Given the description of an element on the screen output the (x, y) to click on. 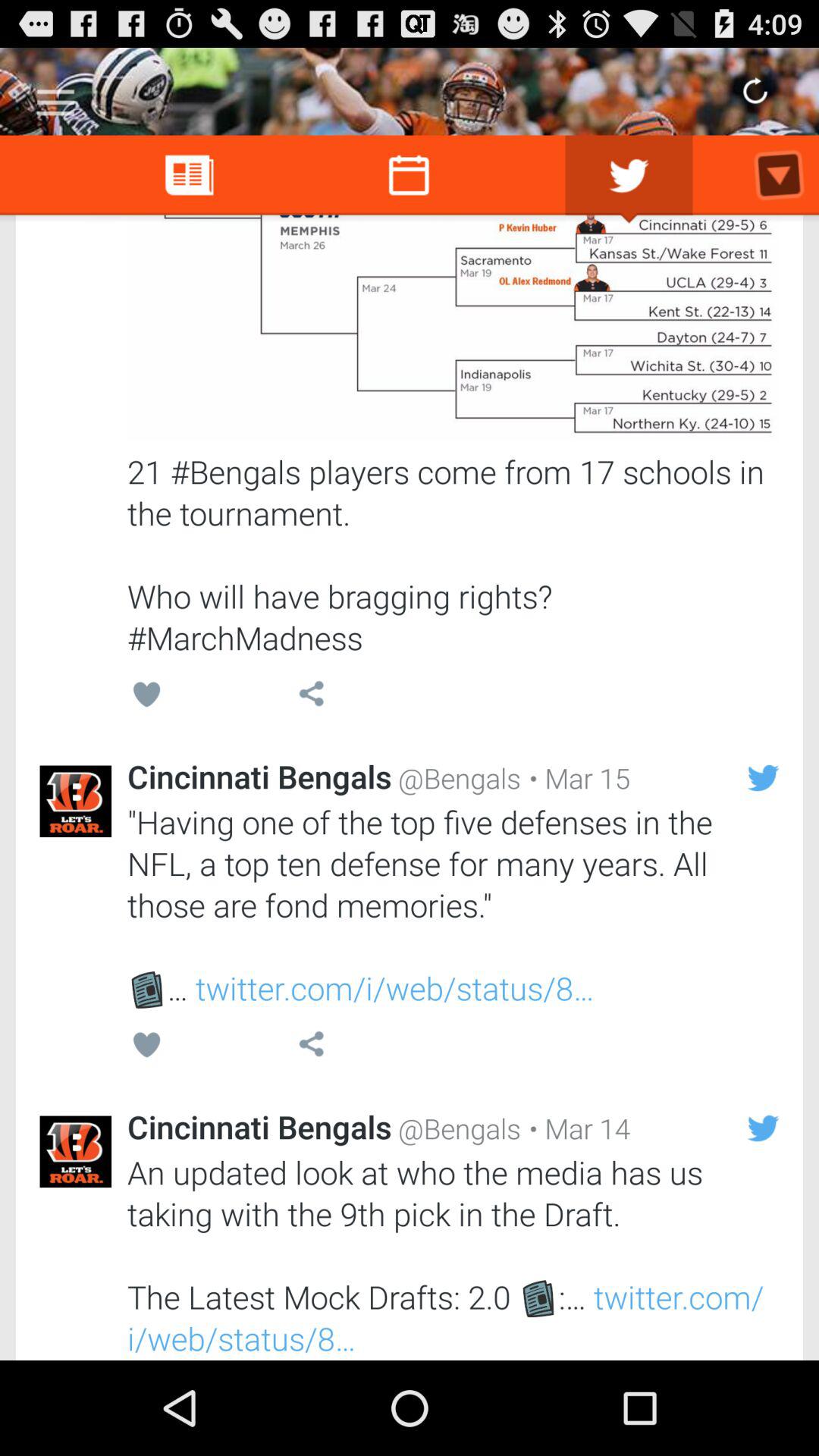
turn off item above an updated look item (575, 1128)
